Given the description of an element on the screen output the (x, y) to click on. 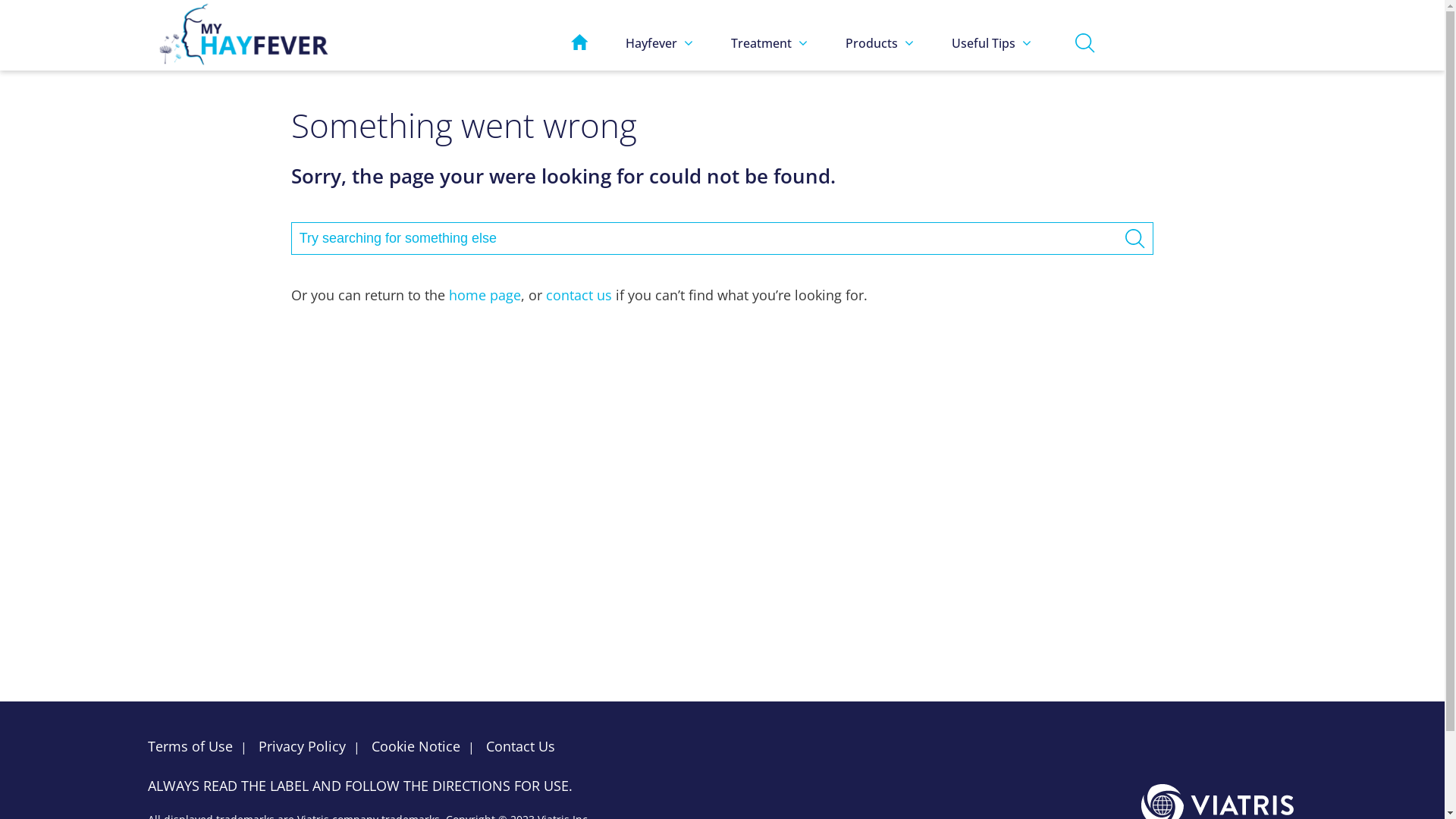
Cookie Notice Element type: text (415, 746)
Treatment Element type: text (769, 42)
contact us Element type: text (578, 294)
Privacy Policy Element type: text (302, 746)
Terms of Use Element type: text (193, 746)
Useful Tips Element type: text (991, 42)
Search Element type: text (1084, 42)
Products Element type: text (879, 42)
home page Element type: text (484, 294)
Hayfever Element type: text (659, 42)
Contact Us Element type: text (520, 746)
Search Element type: text (1134, 238)
